Given the description of an element on the screen output the (x, y) to click on. 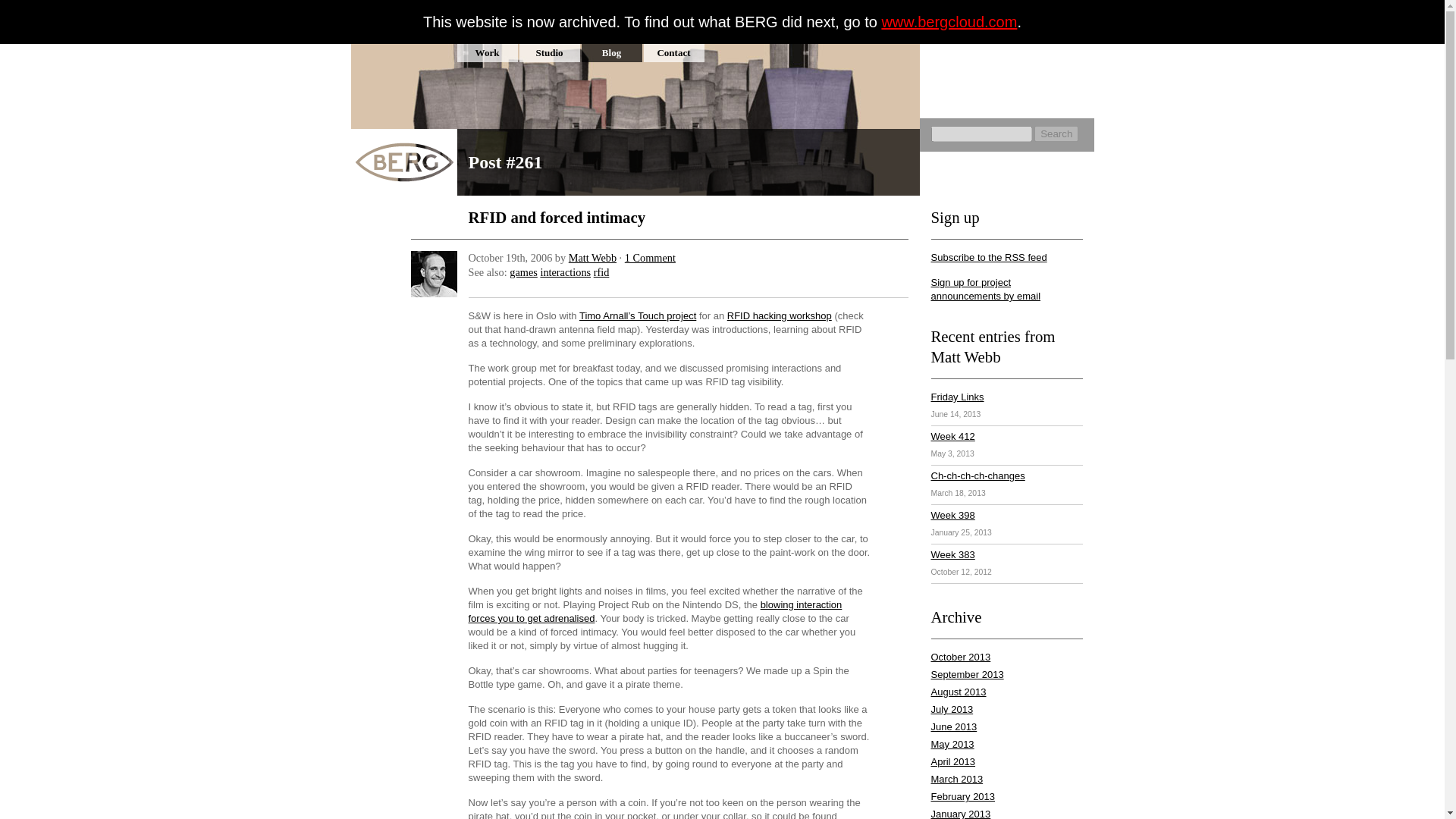
Matt Webb (592, 257)
Week 383 (953, 554)
April 2013 (953, 761)
Studio (548, 53)
Search (1055, 133)
games (523, 272)
rfid (602, 272)
Work (486, 53)
September 2013 (967, 674)
July 2013 (952, 708)
RFID and forced intimacy (557, 217)
Week 398 (953, 514)
Ch-ch-ch-ch-changes (978, 475)
January 2013 (961, 813)
Blog (611, 53)
